Given the description of an element on the screen output the (x, y) to click on. 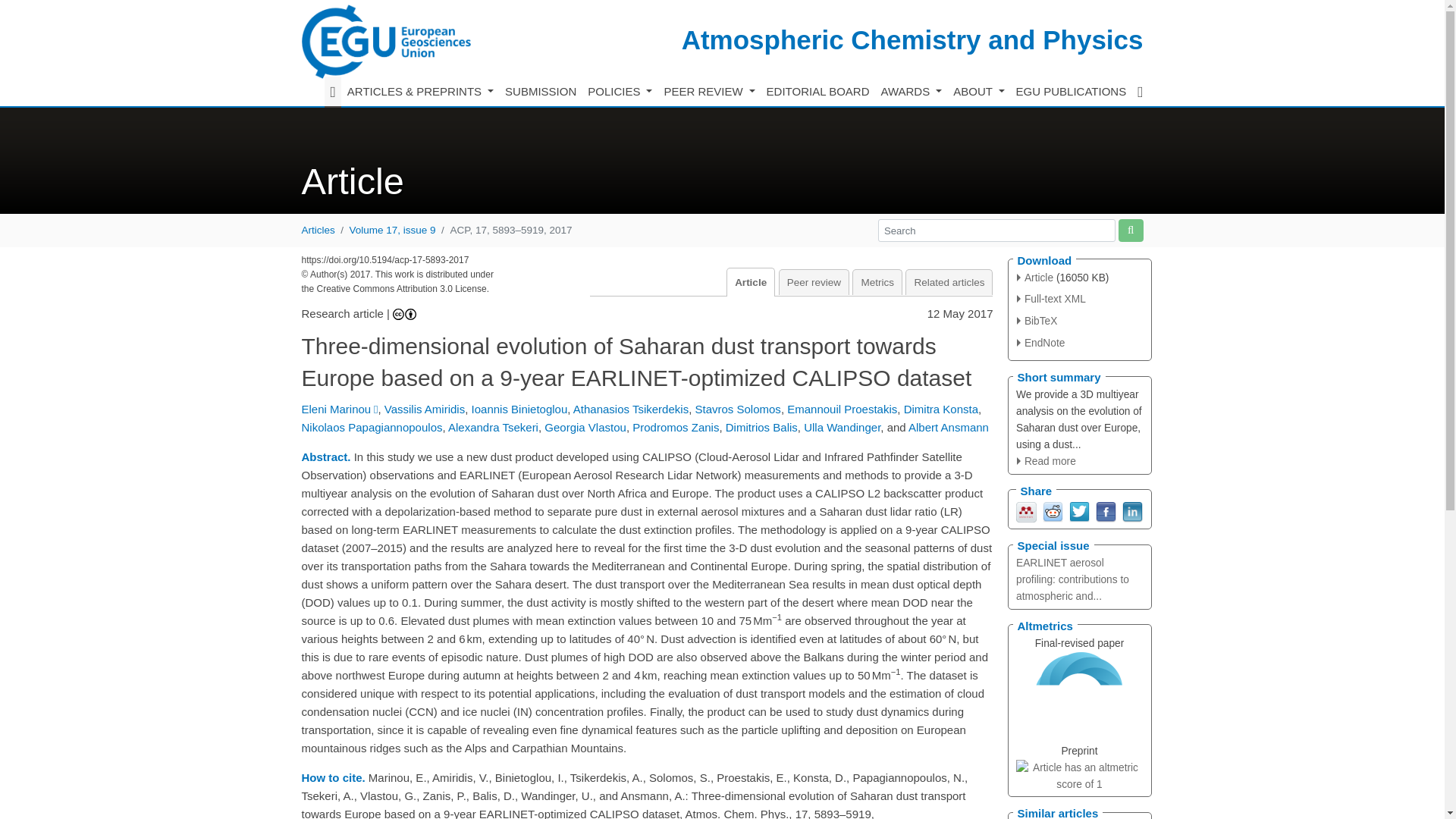
Reddit (1052, 511)
POLICIES (620, 91)
Mendeley (1026, 511)
XML Version (1051, 298)
Start site search (1130, 229)
Atmospheric Chemistry and Physics (911, 39)
SUBMISSION (540, 91)
Twitter (1078, 511)
